Given the description of an element on the screen output the (x, y) to click on. 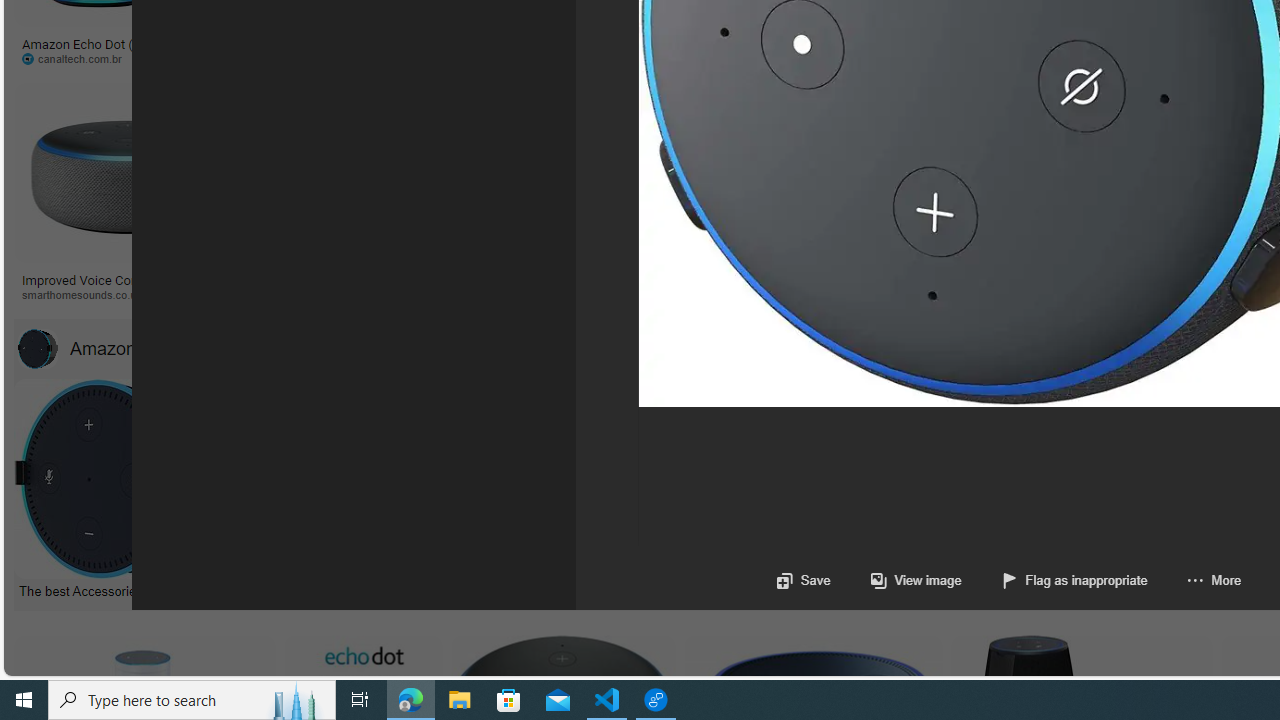
View image (916, 580)
More (1213, 580)
mediamarkt.de (945, 295)
Amazon Echo Dot Accessories (37, 348)
canaltech.com.br (97, 58)
smarthomesounds.co.uk (128, 295)
